Given the description of an element on the screen output the (x, y) to click on. 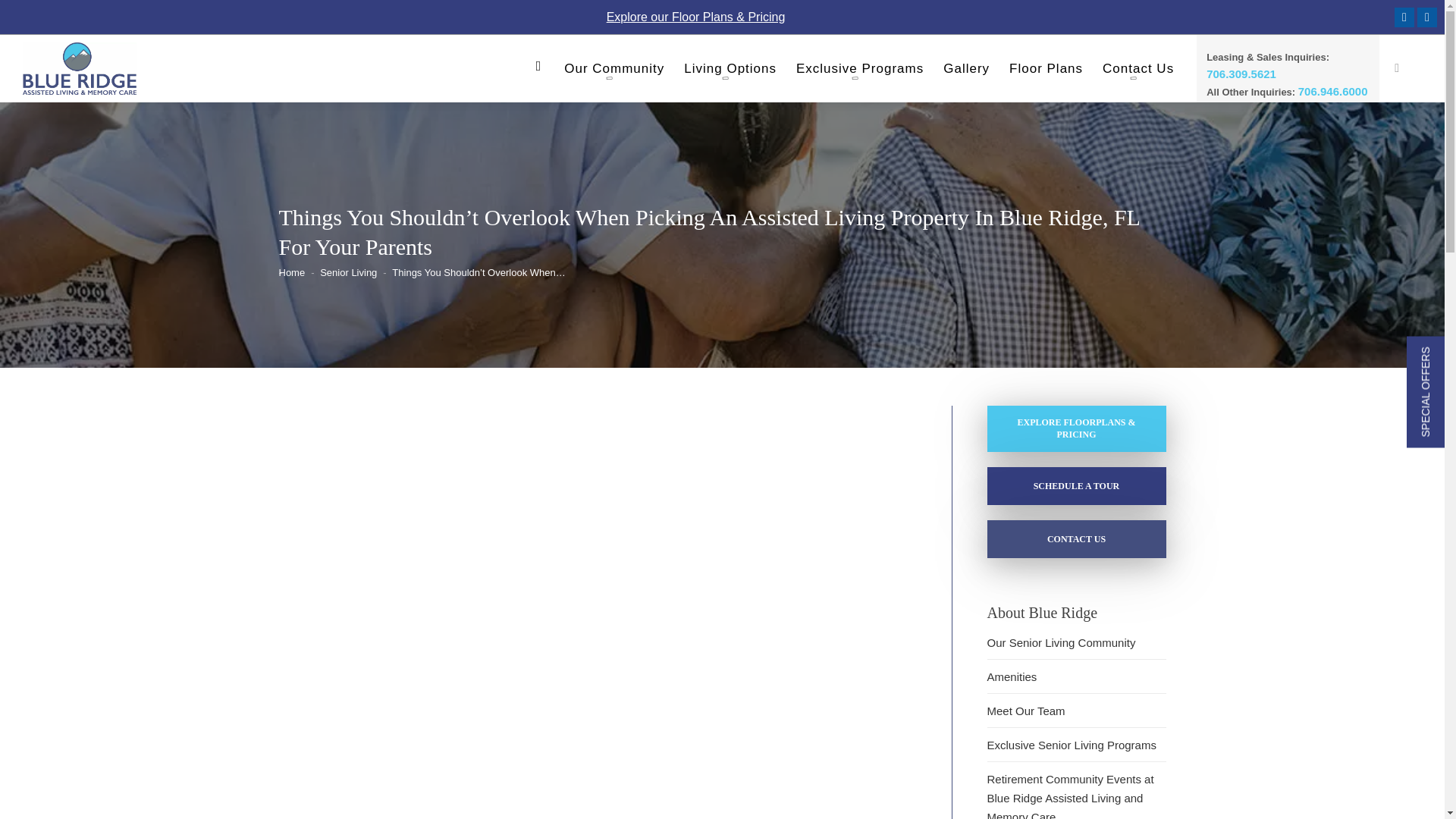
Instagram page opens in new window (1426, 17)
Exclusive Programs (859, 72)
Instagram page opens in new window (1426, 17)
Living Options (730, 72)
Contact Blue Ridge Senior Living (1076, 538)
Facebook page opens in new window (1403, 17)
Schedule A Tour (1076, 485)
Our Community (613, 72)
Facebook page opens in new window (1403, 17)
